Given the description of an element on the screen output the (x, y) to click on. 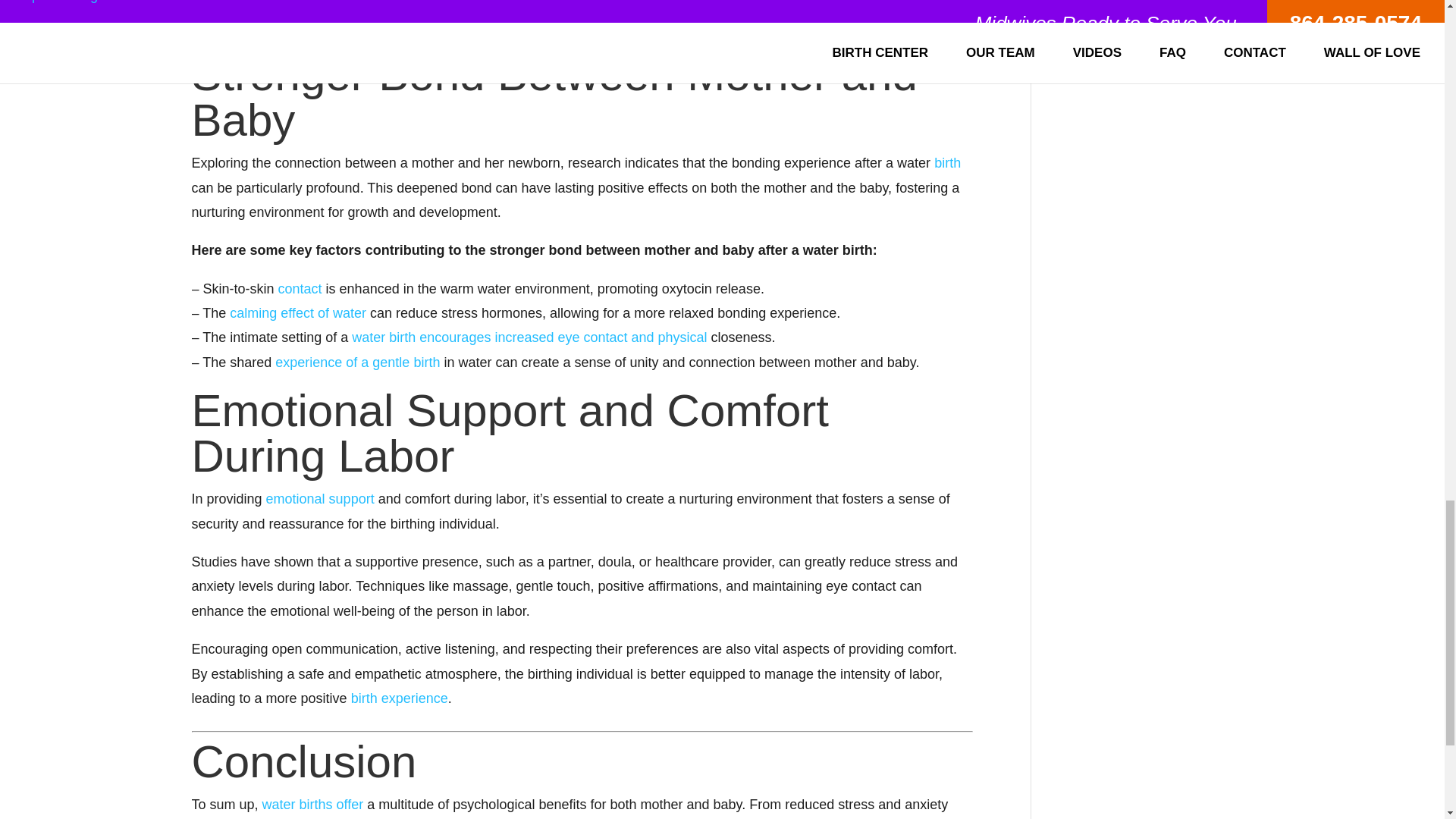
birth (947, 162)
water birth encourages increased eye contact and physical (529, 337)
birthing environment (577, 26)
calming effect of water (298, 313)
contact (299, 288)
